Given the description of an element on the screen output the (x, y) to click on. 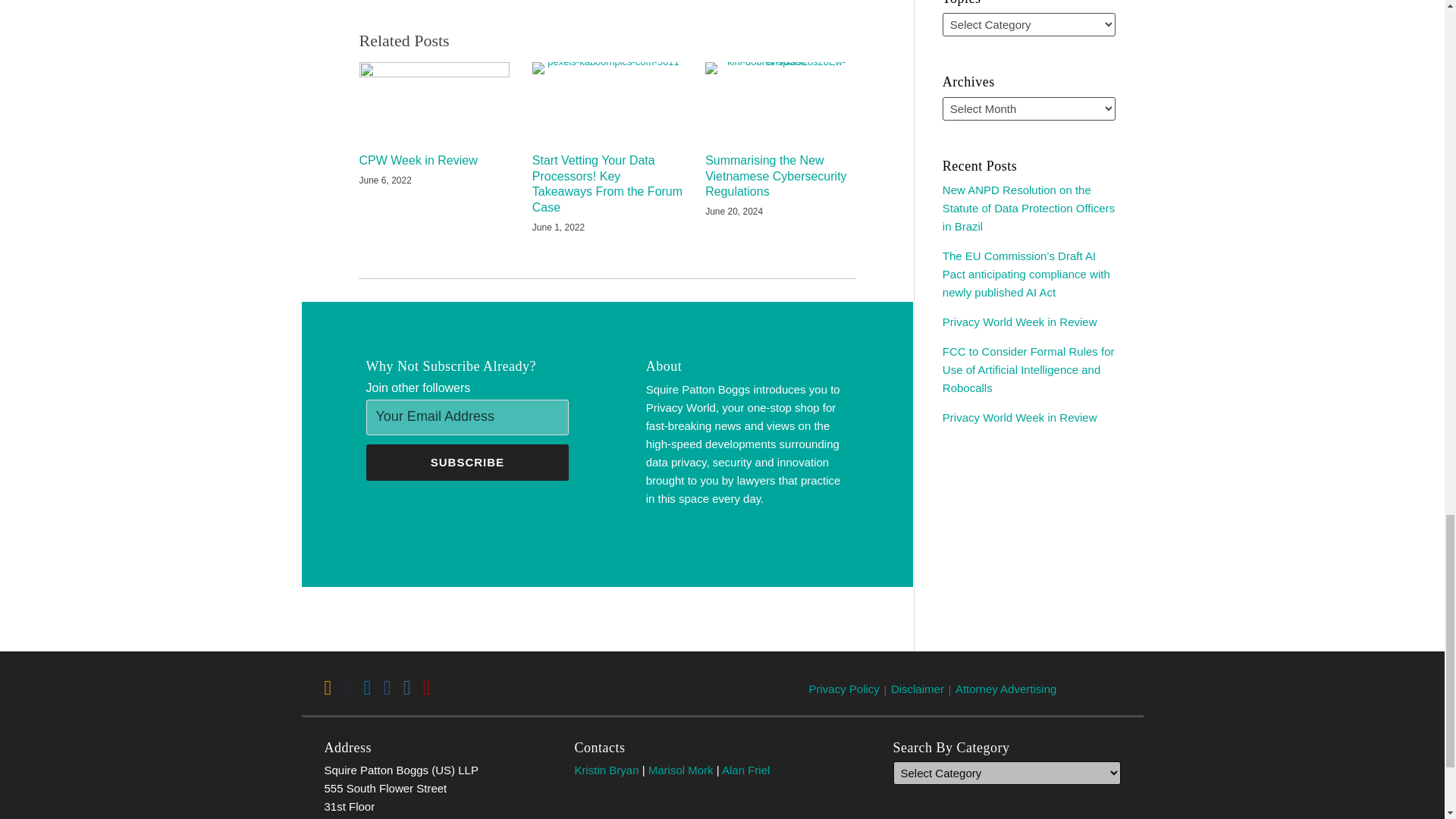
Subscribe (467, 462)
Subscribe (467, 462)
Summarising the New Vietnamese Cybersecurity Regulations (780, 176)
CPW Week in Review (418, 160)
Read More (747, 520)
